Given the description of an element on the screen output the (x, y) to click on. 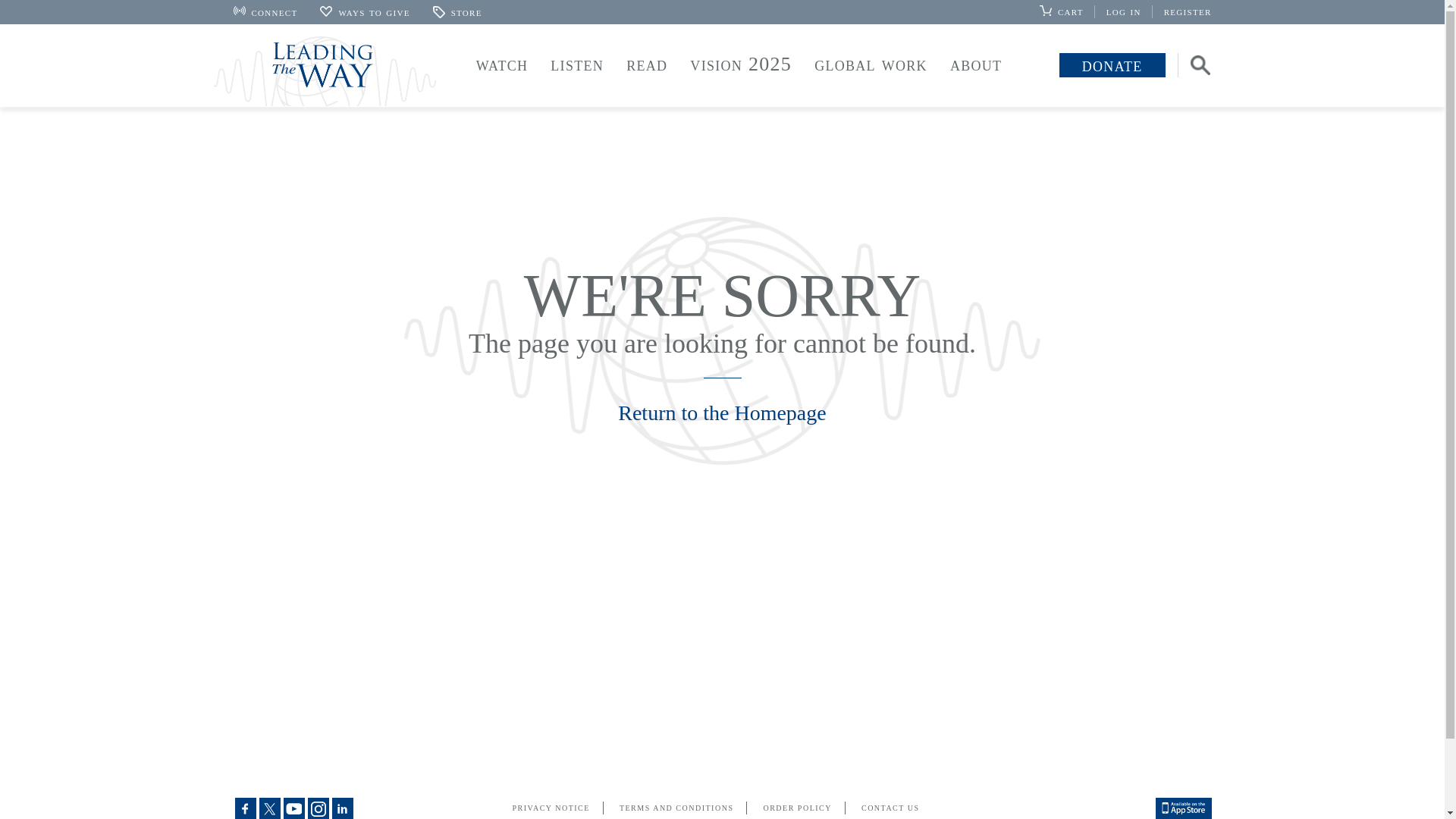
register (1187, 10)
toggle menu (576, 67)
toggle menu (871, 67)
listen (576, 63)
connect (265, 11)
cart (1066, 10)
Watch videos with Dr. Michael Youssef (502, 63)
vision 2025 (740, 63)
global work (871, 63)
watch (502, 63)
toggle menu (502, 67)
toggle menu (646, 67)
log in (1129, 10)
ways to give (364, 11)
Leading The Way with Dr. Michael Youssef (324, 71)
